Given the description of an element on the screen output the (x, y) to click on. 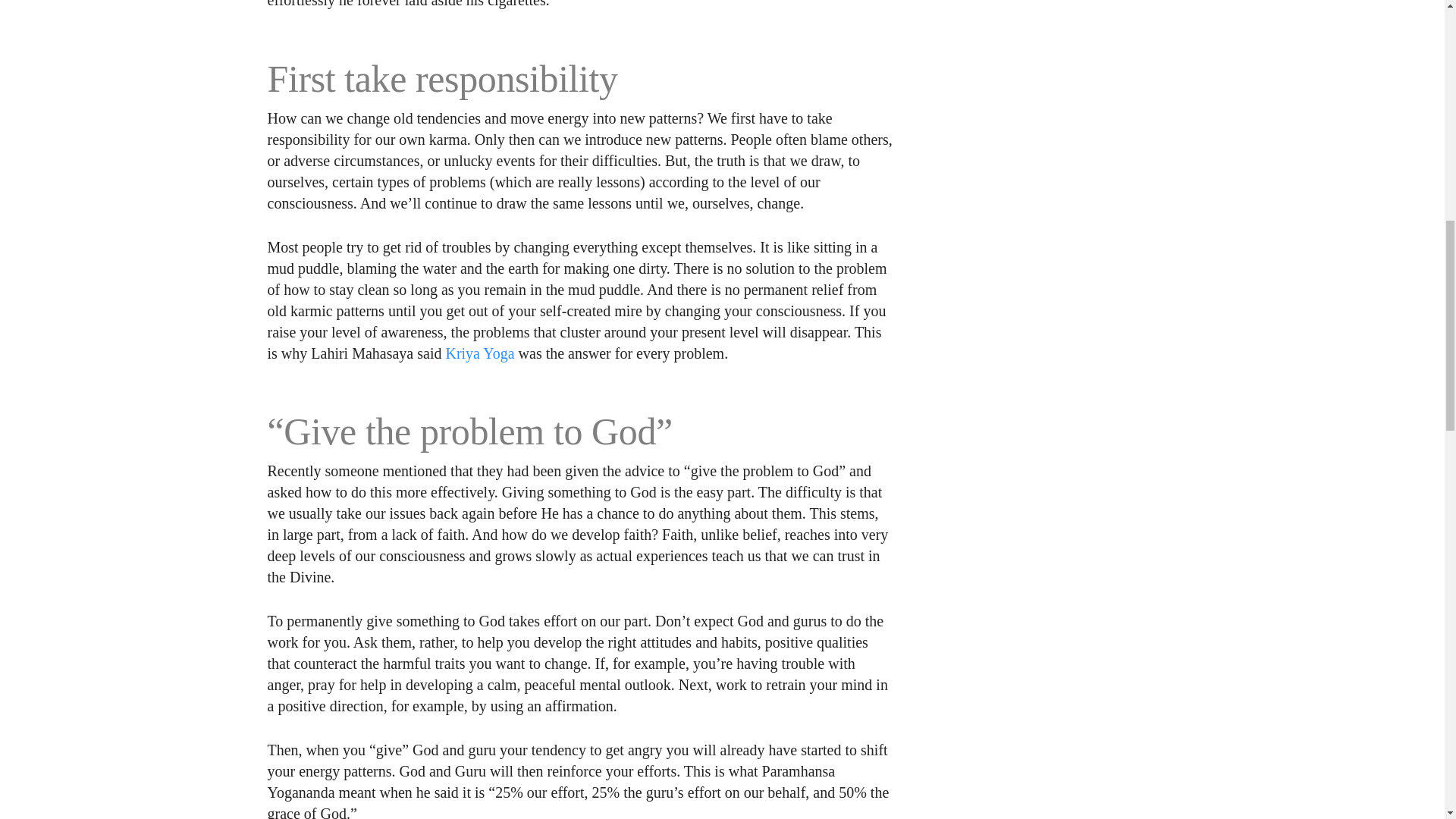
Kriya Yoga (479, 352)
